Given the description of an element on the screen output the (x, y) to click on. 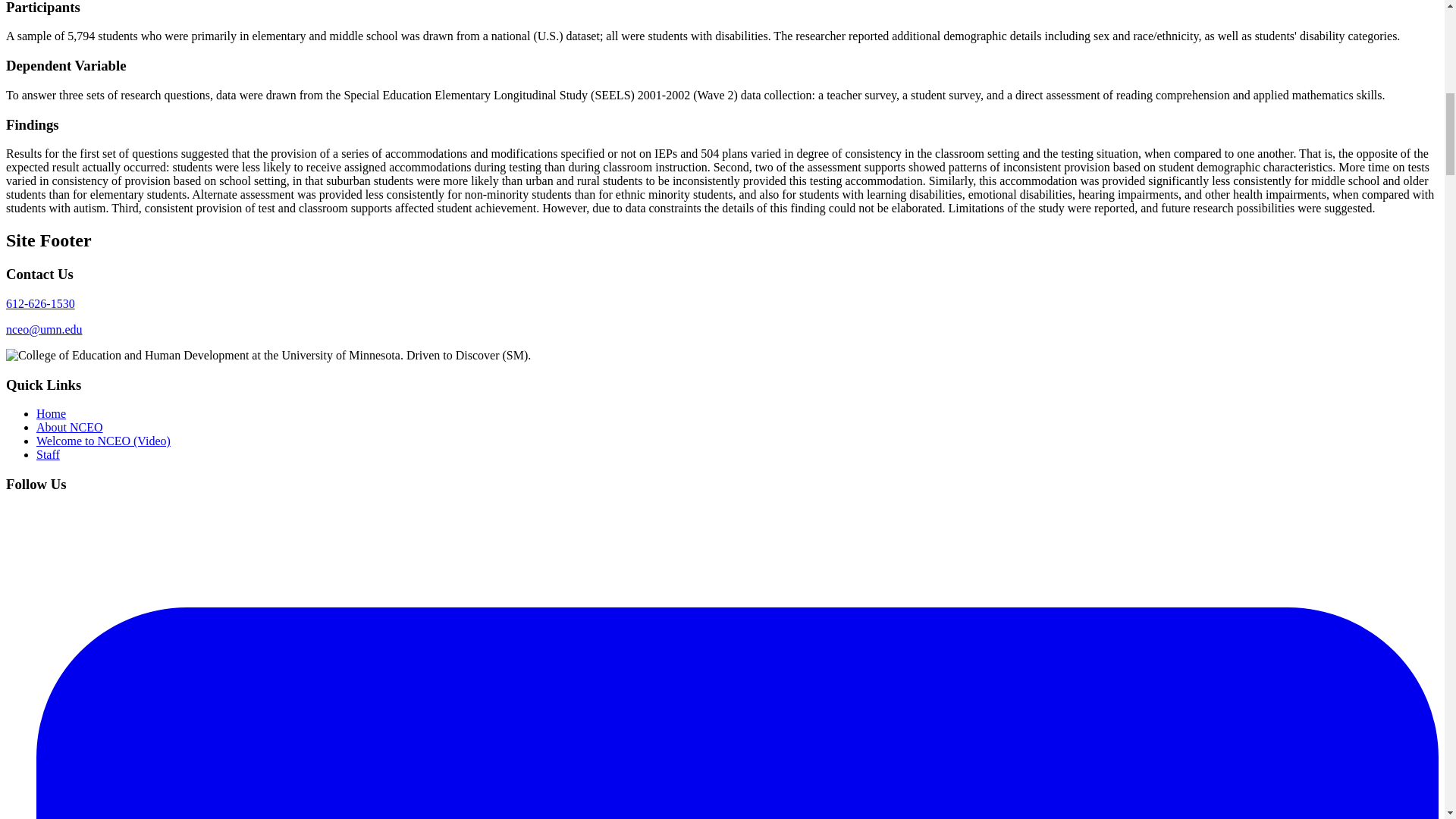
Home (50, 413)
About NCEO (69, 427)
Staff (47, 454)
612-626-1530 (40, 303)
